Given the description of an element on the screen output the (x, y) to click on. 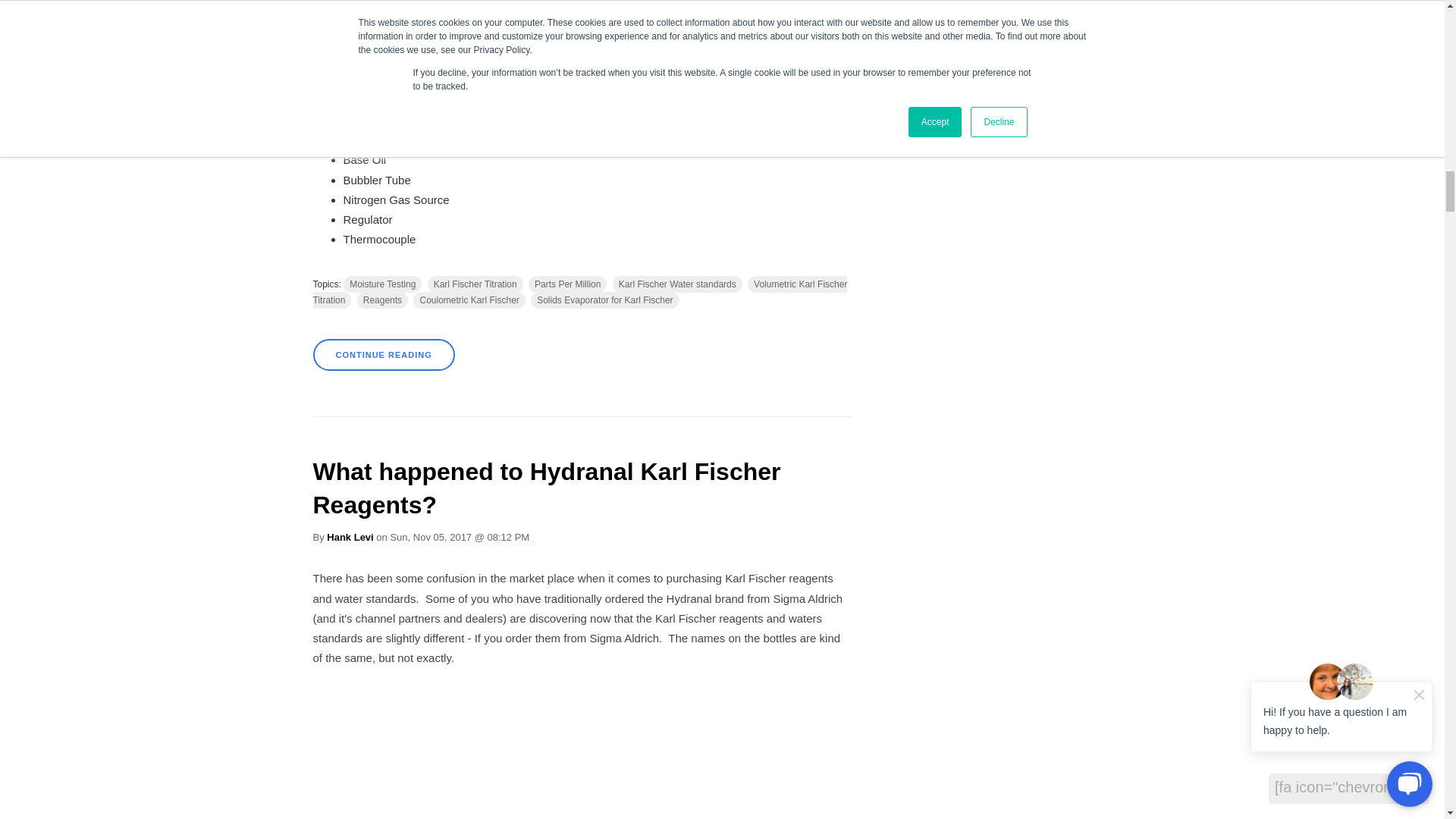
Mute (775, 58)
Play Video (327, 58)
Fullscreen (836, 58)
Show settings menu (805, 58)
